Given the description of an element on the screen output the (x, y) to click on. 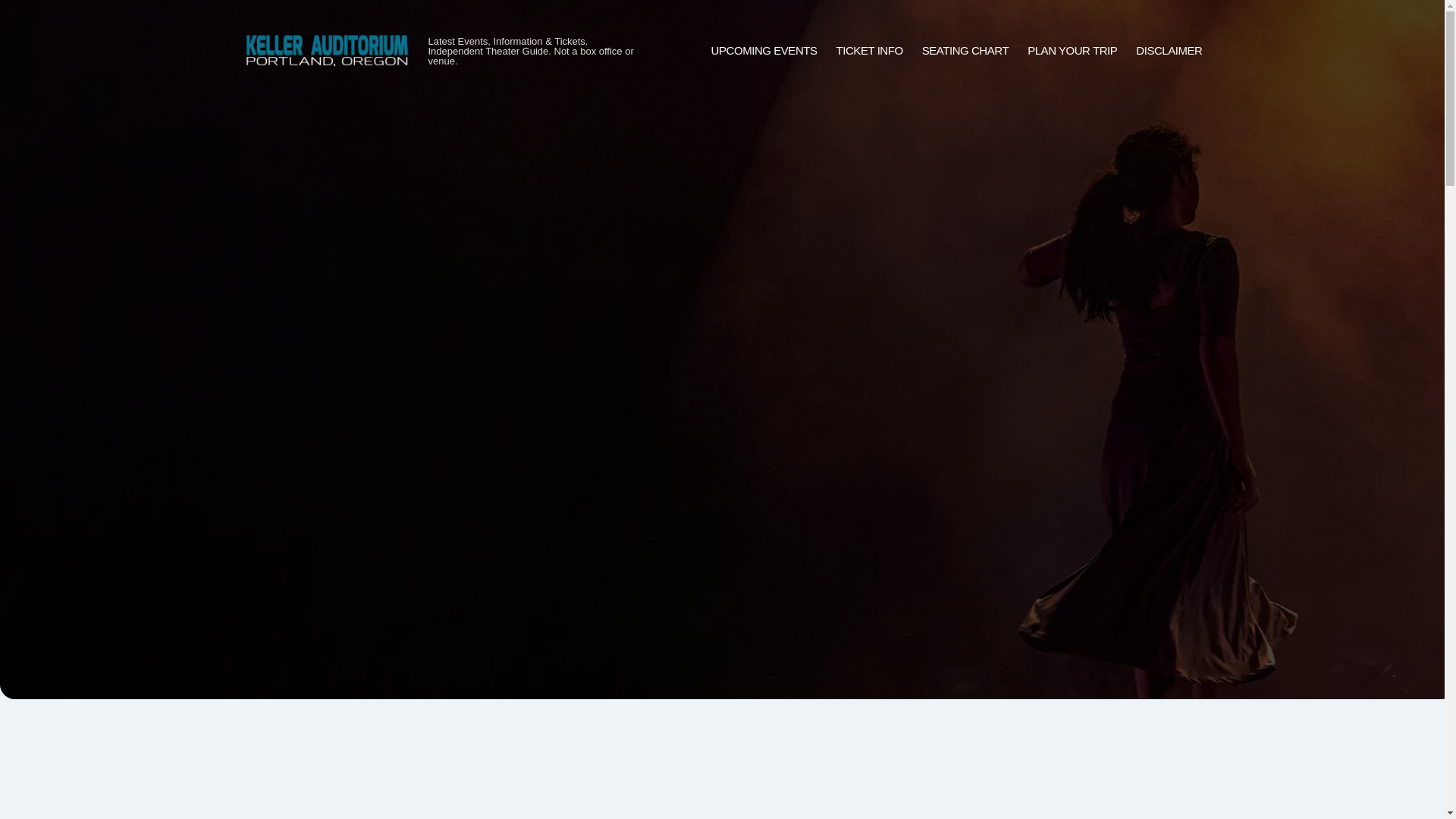
SEATING CHART (965, 50)
TICKET INFO (868, 50)
DISCLAIMER (1168, 50)
UPCOMING EVENTS (763, 50)
PLAN YOUR TRIP (1071, 50)
